Given the description of an element on the screen output the (x, y) to click on. 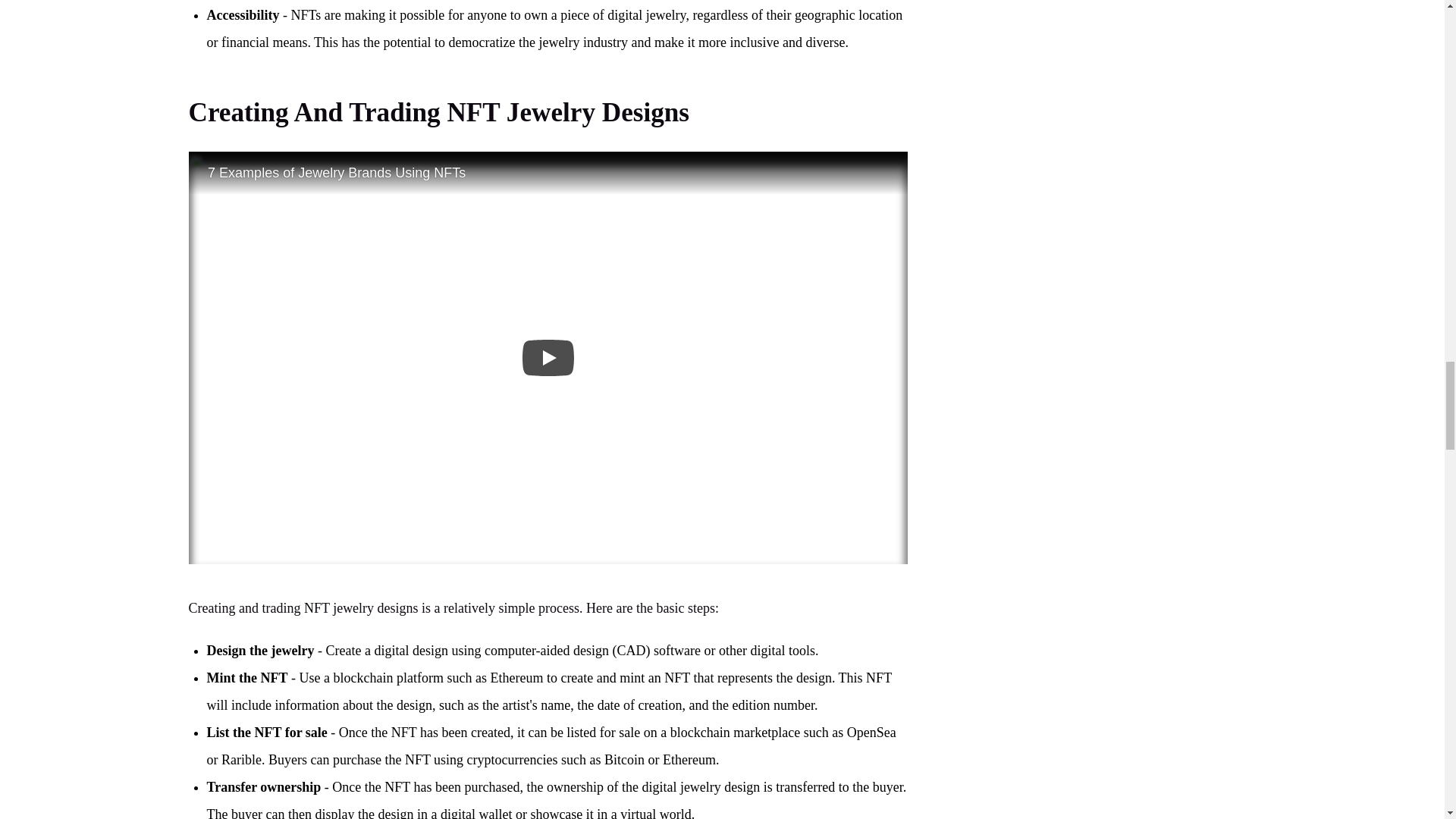
Creating And Trading NFT Jewelry Designs (437, 112)
